Given the description of an element on the screen output the (x, y) to click on. 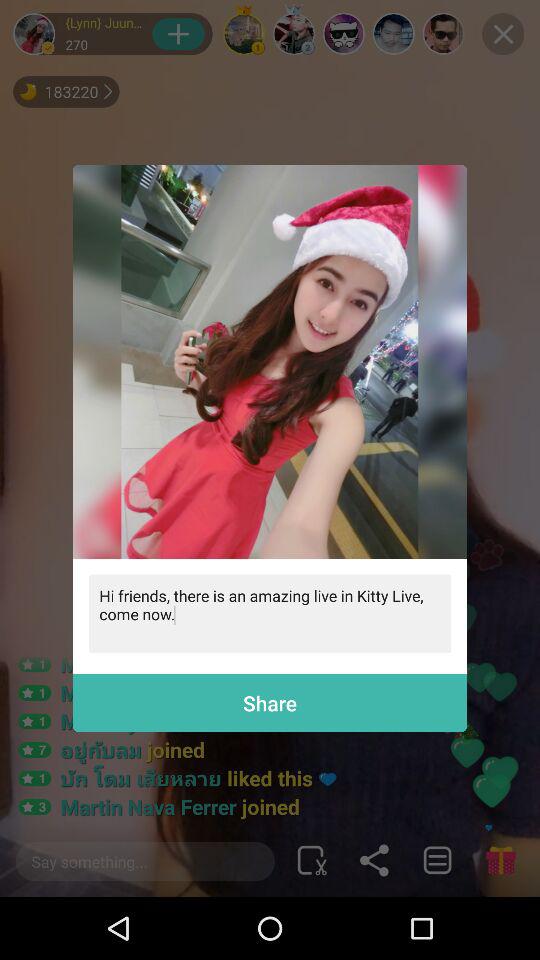
launch the share at the bottom (269, 702)
